Given the description of an element on the screen output the (x, y) to click on. 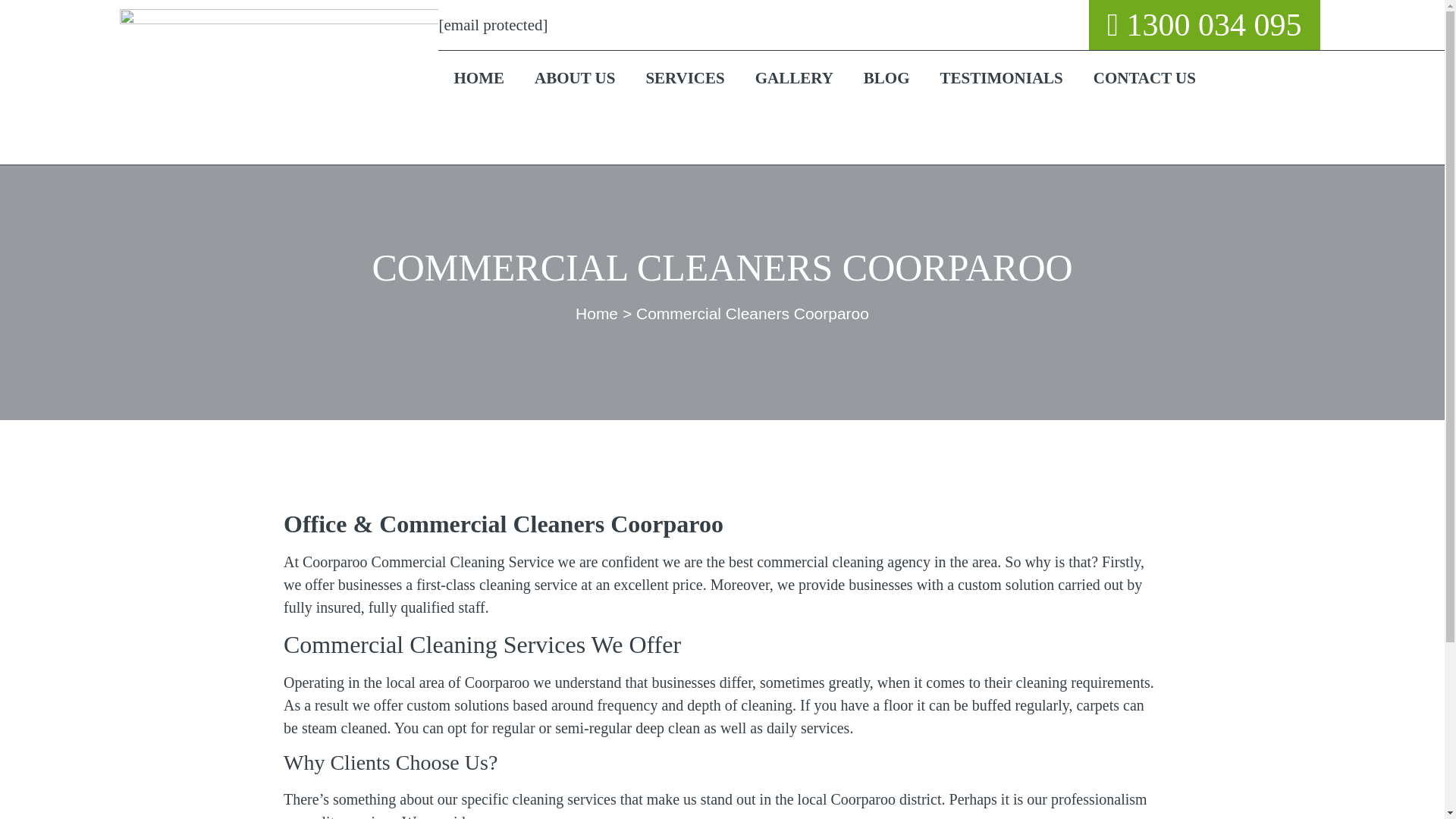
HOME (478, 77)
SERVICES (684, 77)
BLOG (886, 77)
TESTIMONIALS (1001, 77)
ABOUT US (574, 77)
1300 034 095 (1204, 24)
GALLERY (793, 77)
